Given the description of an element on the screen output the (x, y) to click on. 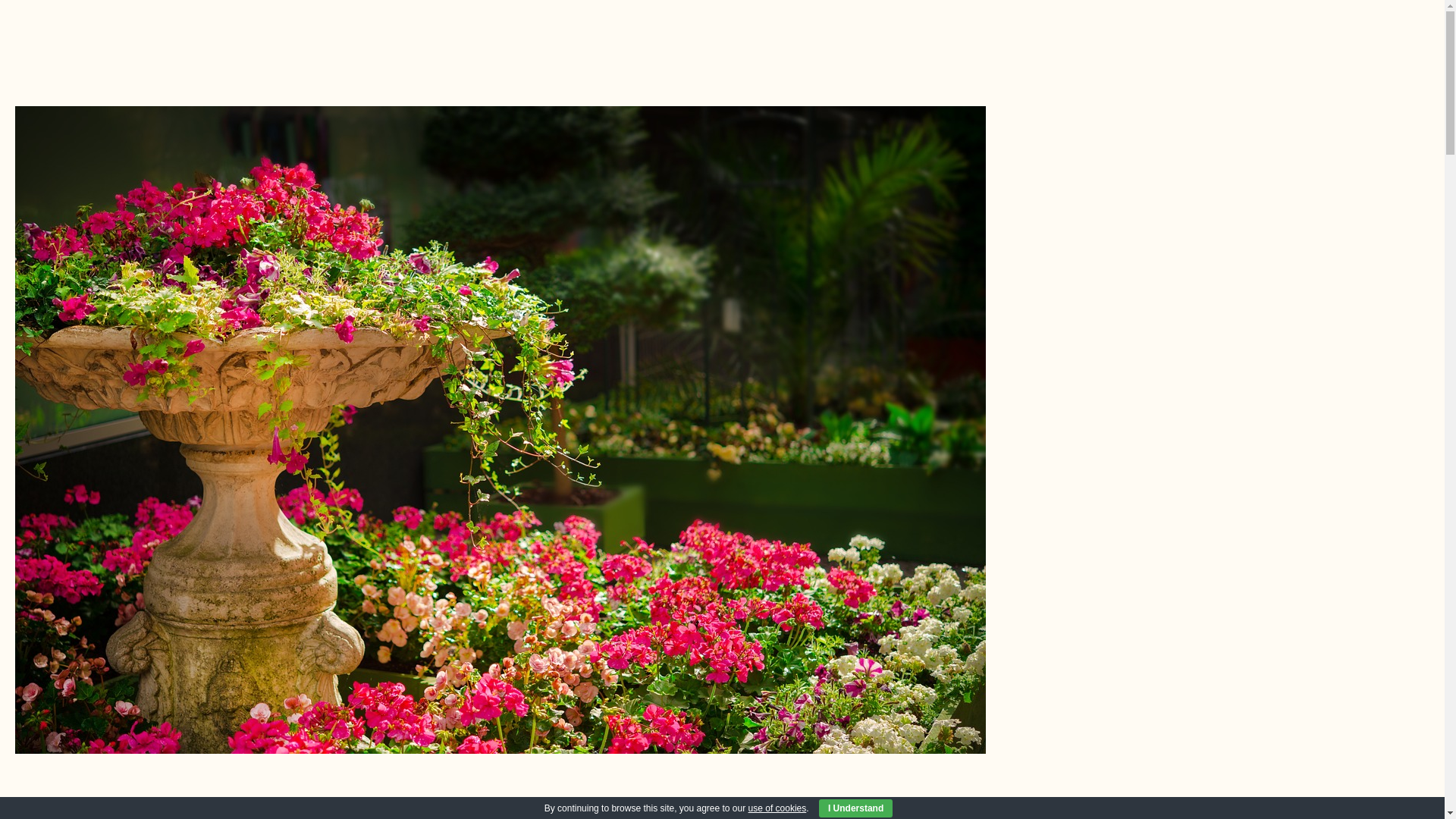
Self-Love (722, 810)
use of cookies (777, 808)
I Understand (855, 808)
Self-Love (722, 810)
